Given the description of an element on the screen output the (x, y) to click on. 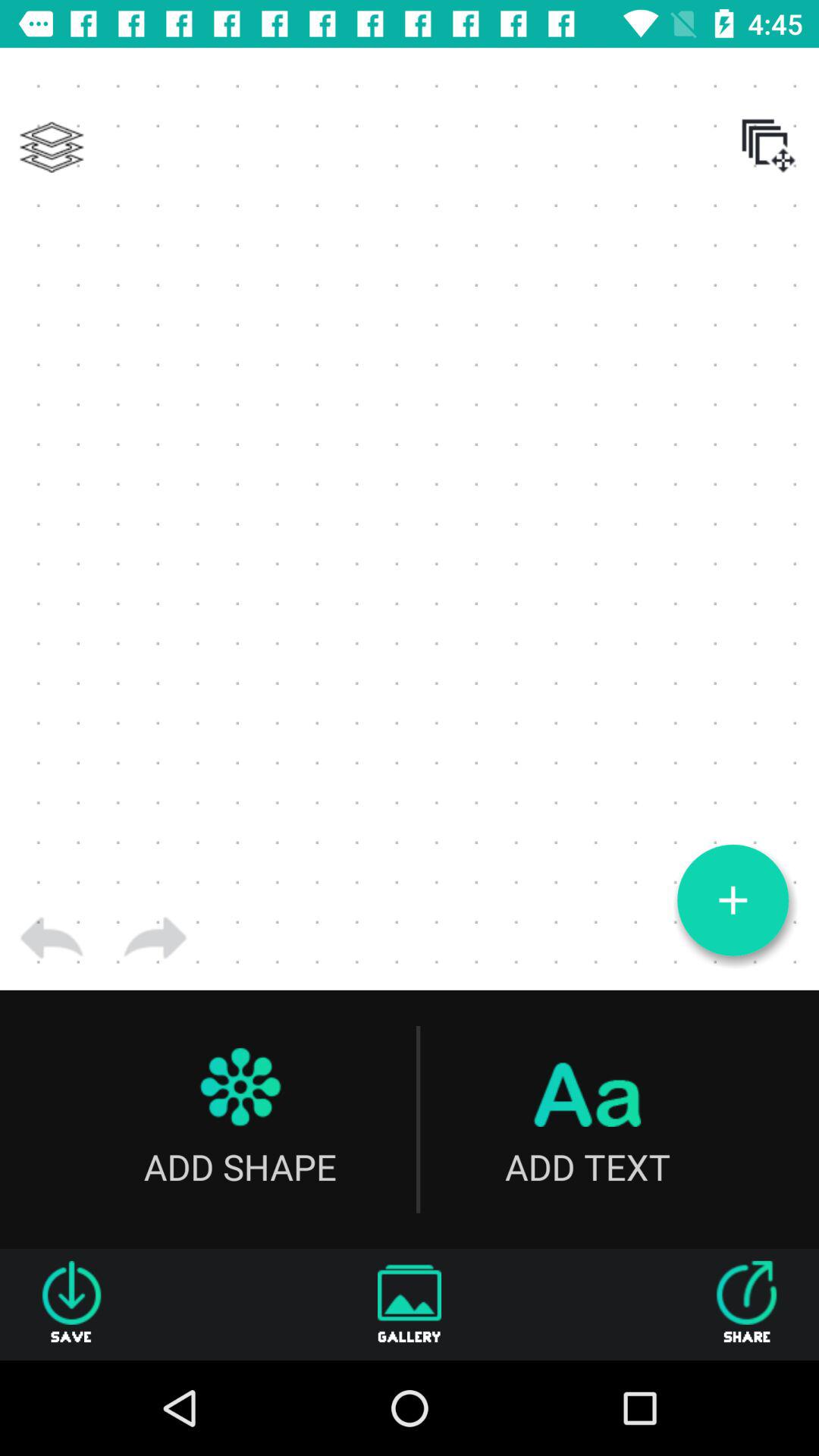
add image (733, 900)
